Given the description of an element on the screen output the (x, y) to click on. 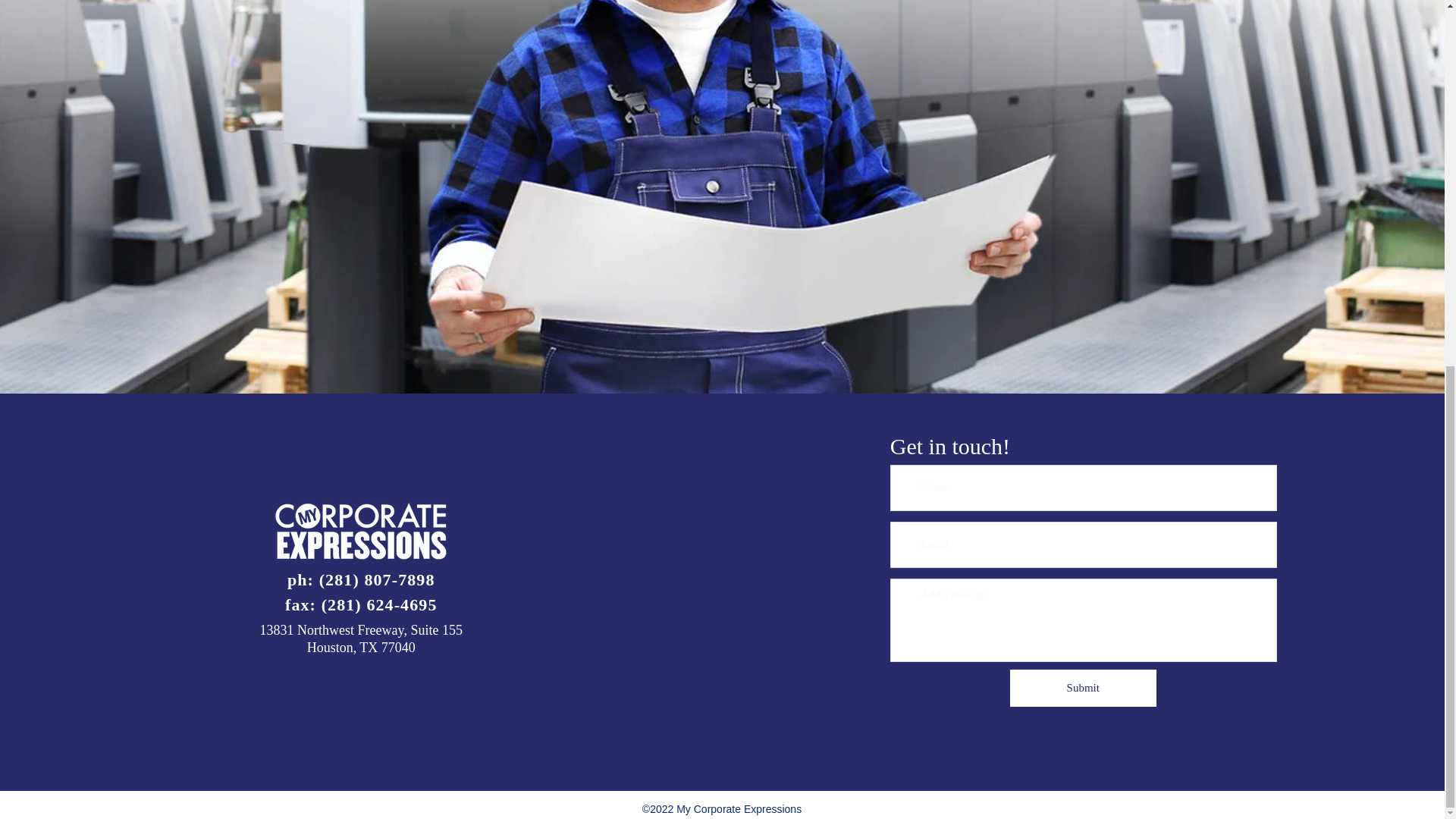
Submit (1083, 687)
